Given the description of an element on the screen output the (x, y) to click on. 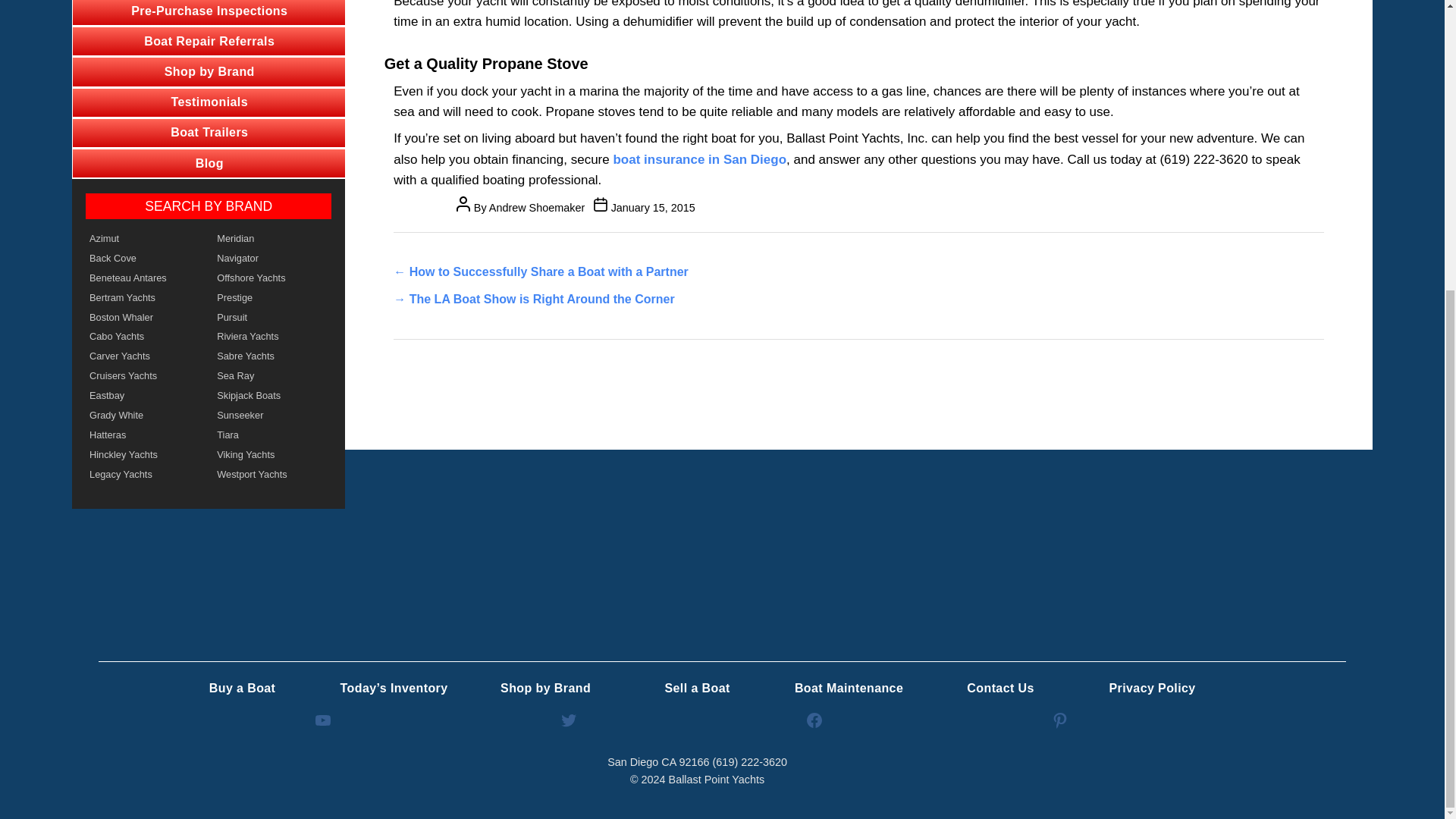
Beneteau Antares (144, 278)
Hatteras (144, 435)
boat insurance in San Diego (699, 159)
Pre-Purchase Inspections (208, 12)
Boat Repair Referrals (208, 41)
Cruisers Yachts (144, 375)
Grady White (144, 415)
Blog (208, 163)
Cabo Yachts (144, 336)
Bertram Yachts (144, 297)
